Given the description of an element on the screen output the (x, y) to click on. 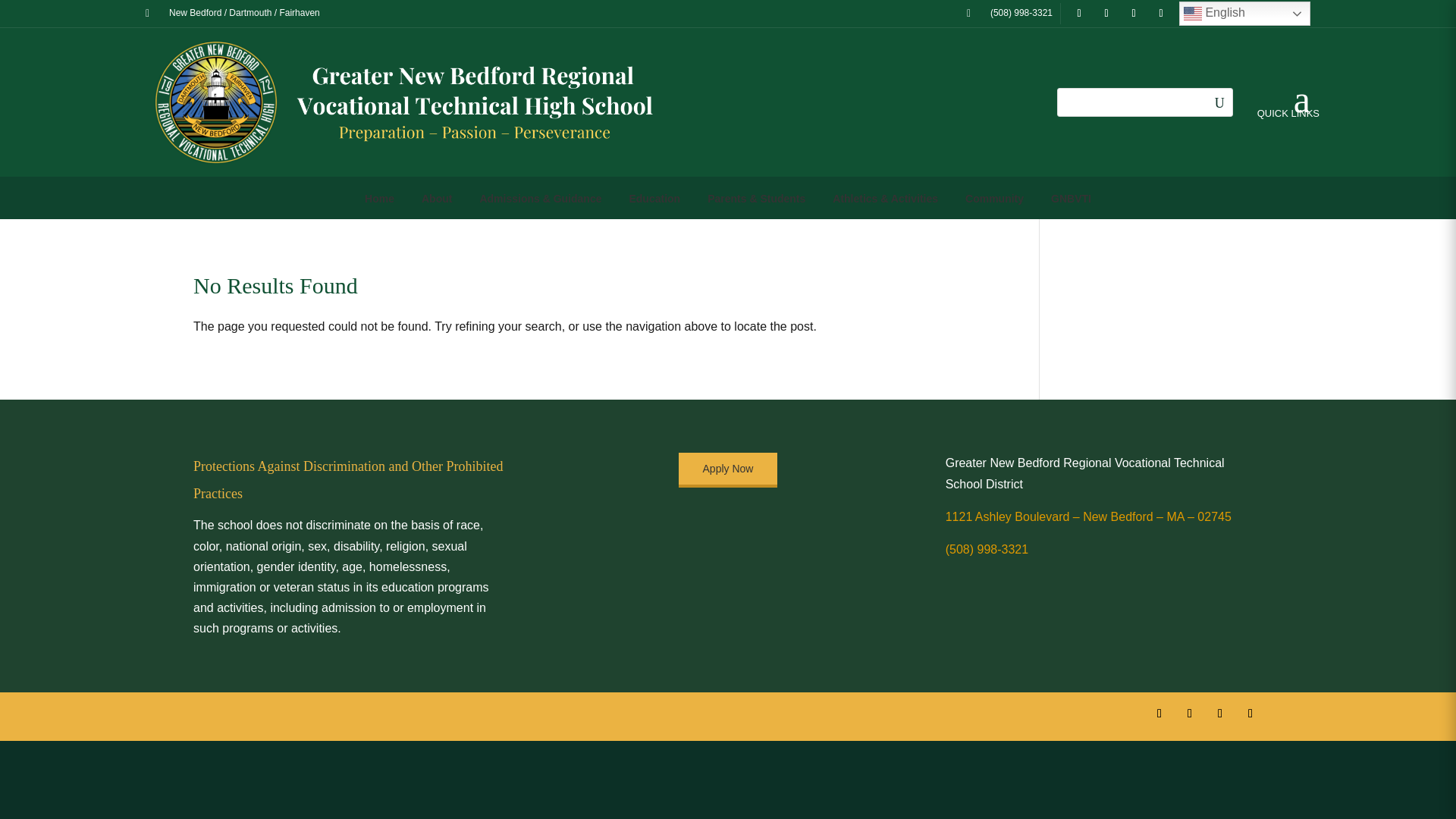
Search (1218, 102)
Search (1218, 102)
